Given the description of an element on the screen output the (x, y) to click on. 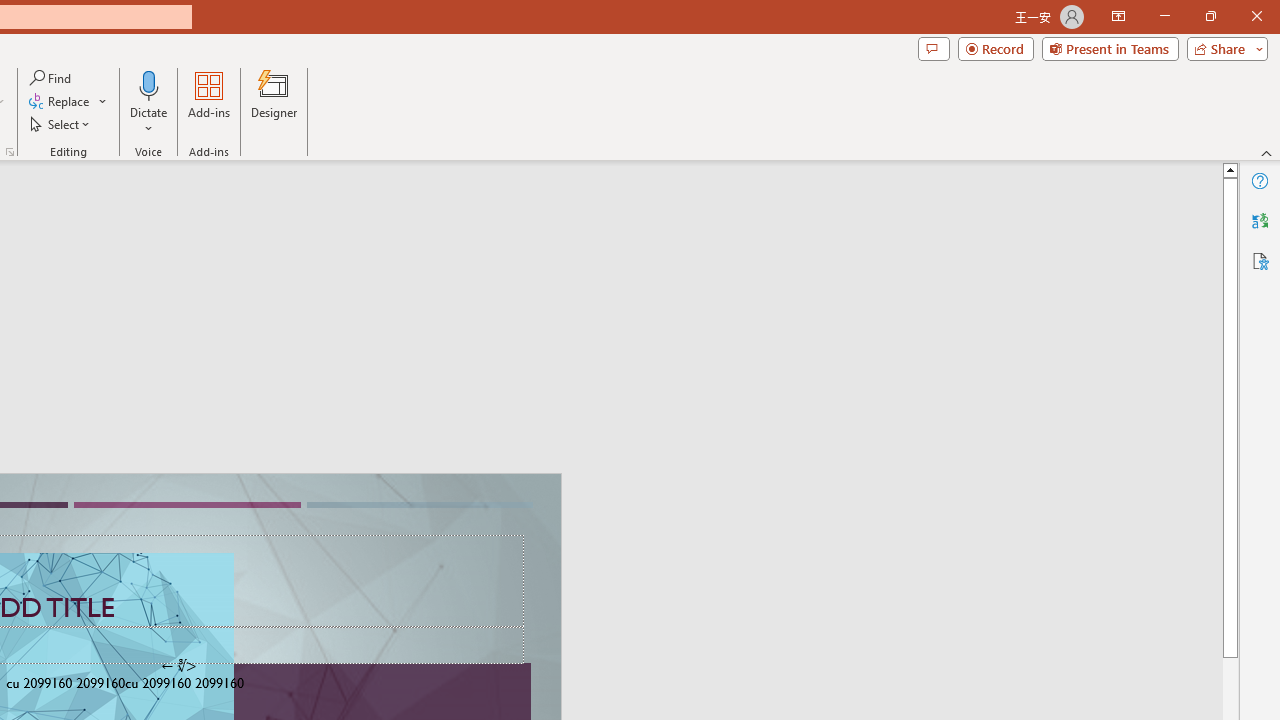
Select (61, 124)
Find... (51, 78)
TextBox 7 (178, 666)
